Given the description of an element on the screen output the (x, y) to click on. 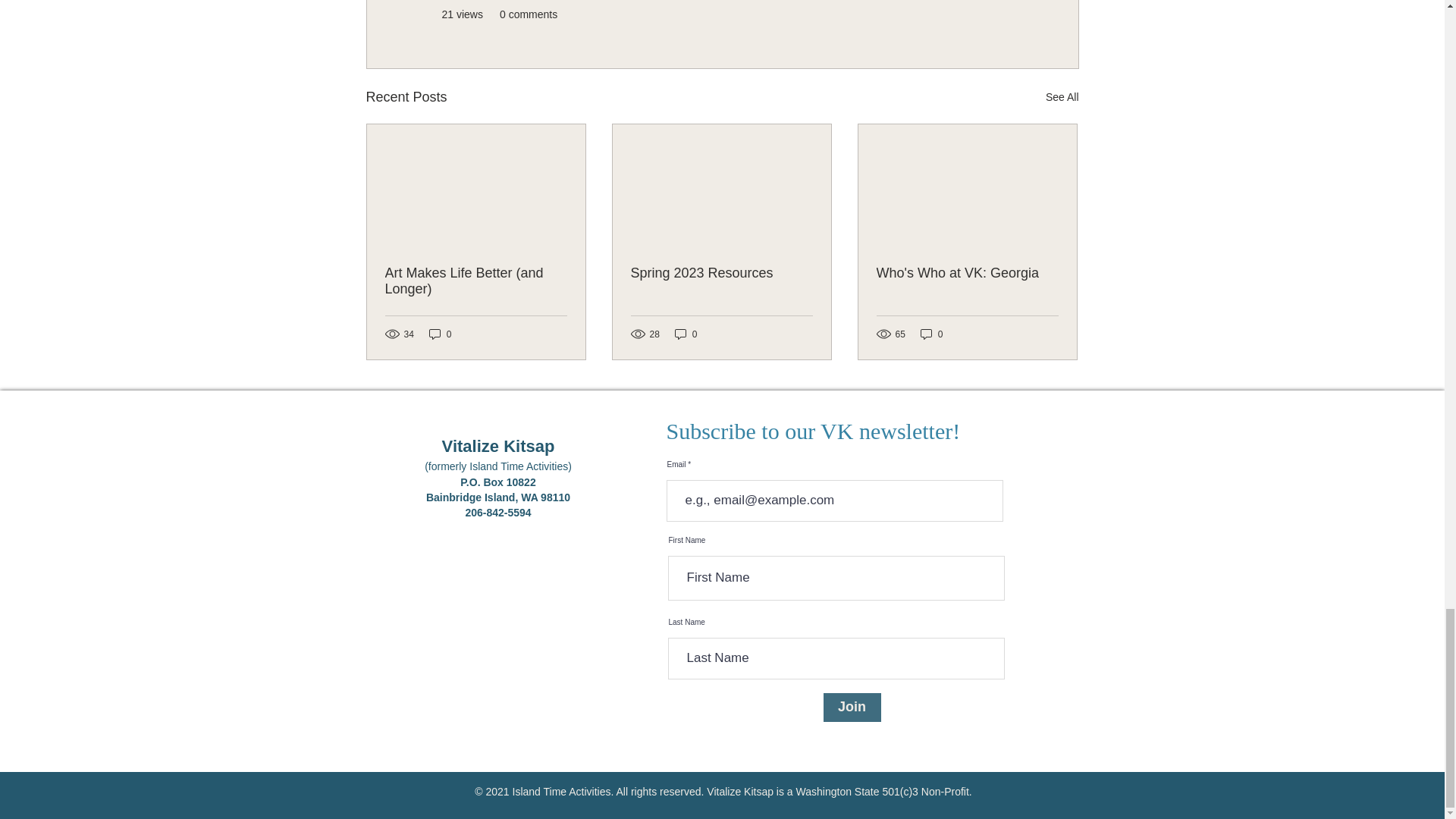
See All (1061, 97)
